Given the description of an element on the screen output the (x, y) to click on. 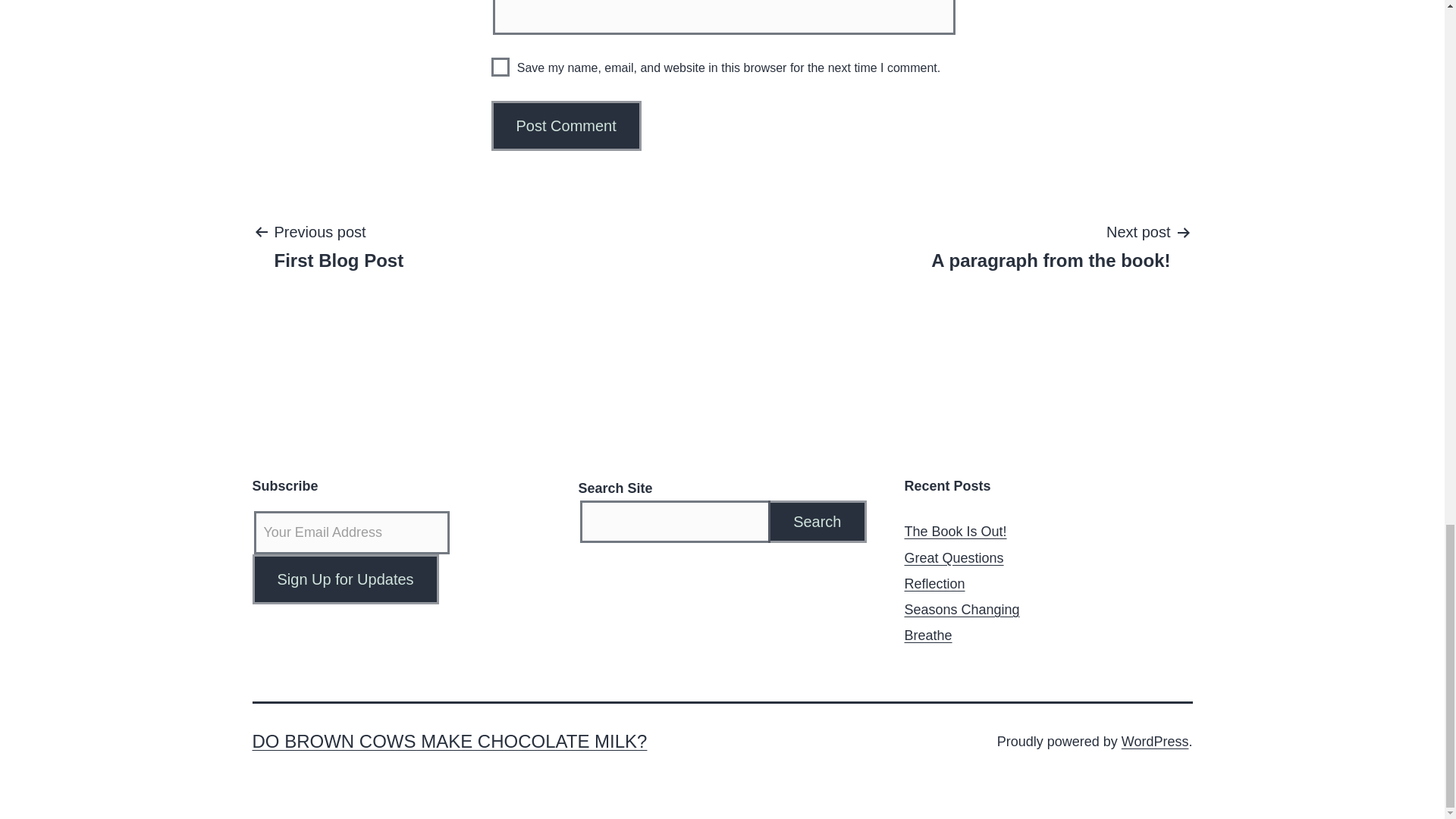
Breathe (928, 635)
Seasons Changing (961, 610)
Post Comment (567, 125)
Post Comment (567, 125)
Great Questions (953, 558)
Reflection (933, 583)
WordPress (338, 245)
The Book Is Out! (1155, 741)
Sign Up for Updates (955, 531)
Search (344, 579)
Sign Up for Updates (817, 521)
DO BROWN COWS MAKE CHOCOLATE MILK? (1050, 245)
yes (344, 579)
